Given the description of an element on the screen output the (x, y) to click on. 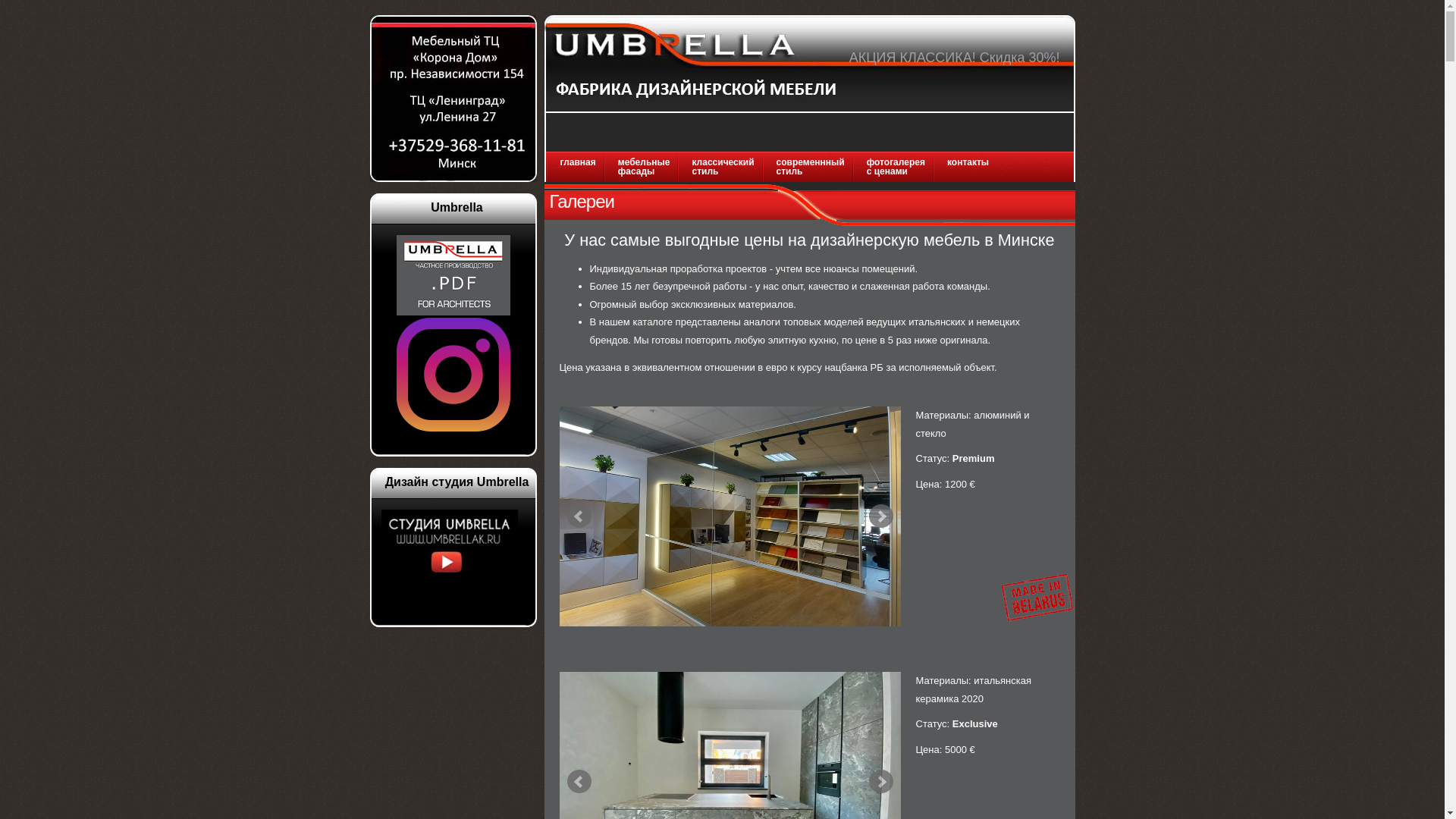
Next Element type: text (881, 516)
Next Element type: text (881, 781)
Prev Element type: text (579, 516)
LiveInternet Element type: hover (453, 650)
Prev Element type: text (579, 781)
